Given the description of an element on the screen output the (x, y) to click on. 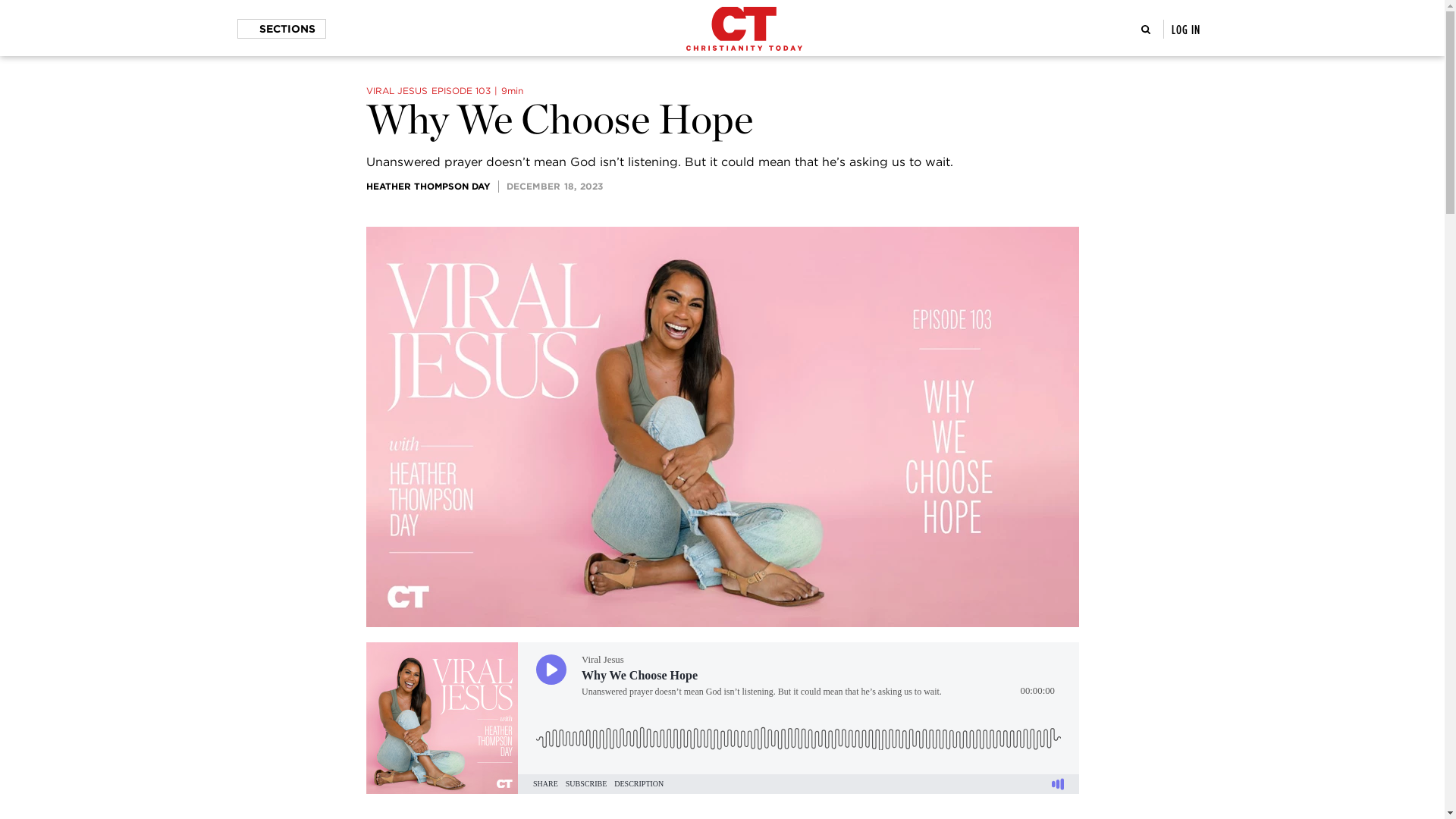
Christianity Today (743, 28)
